Given the description of an element on the screen output the (x, y) to click on. 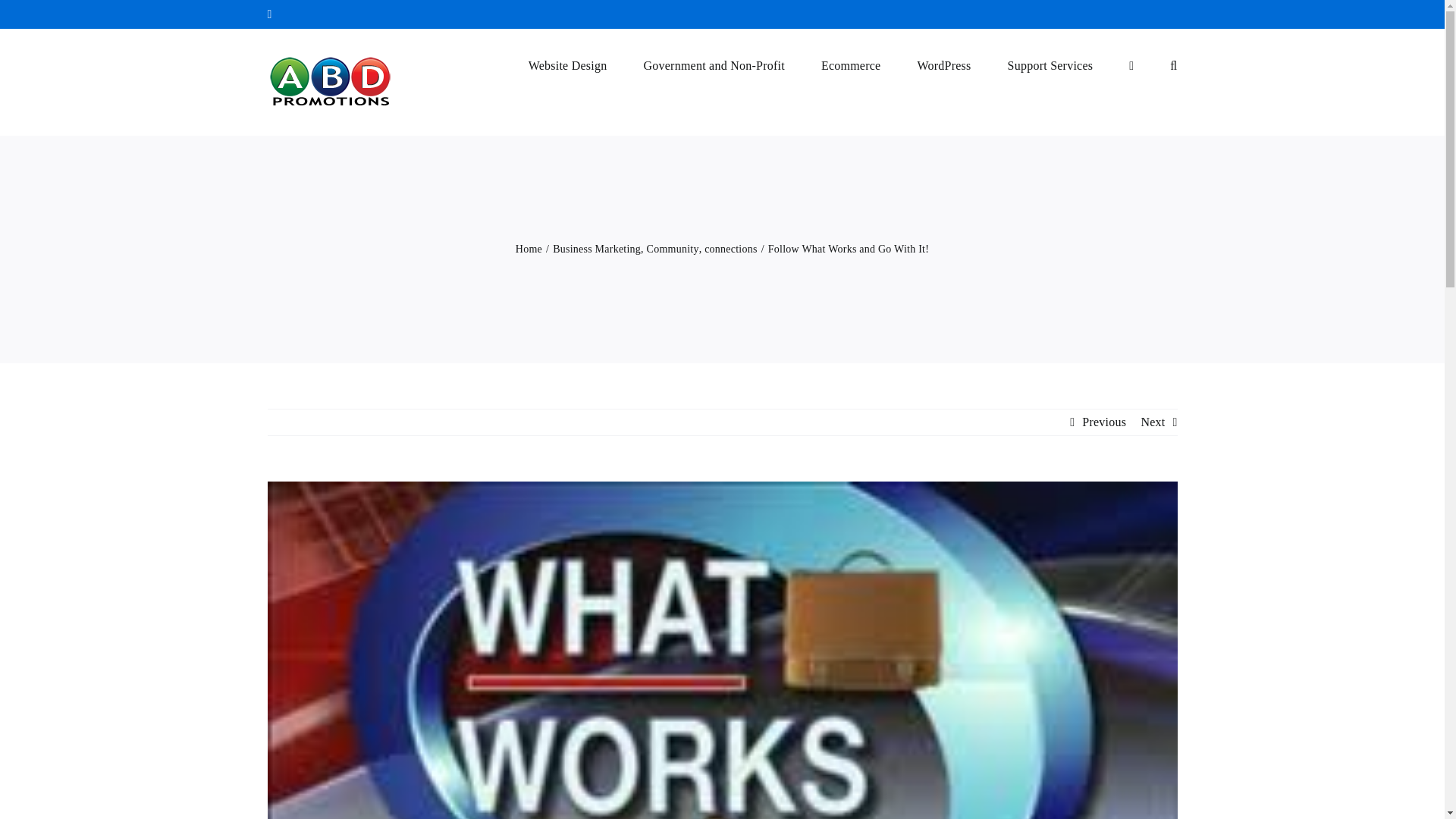
connections (730, 248)
Government and Non-Profit (713, 63)
Home (528, 248)
Previous (1103, 421)
Community (672, 248)
Website Design (567, 63)
Support Services (1050, 63)
Next (1152, 421)
Business Marketing (596, 248)
